Given the description of an element on the screen output the (x, y) to click on. 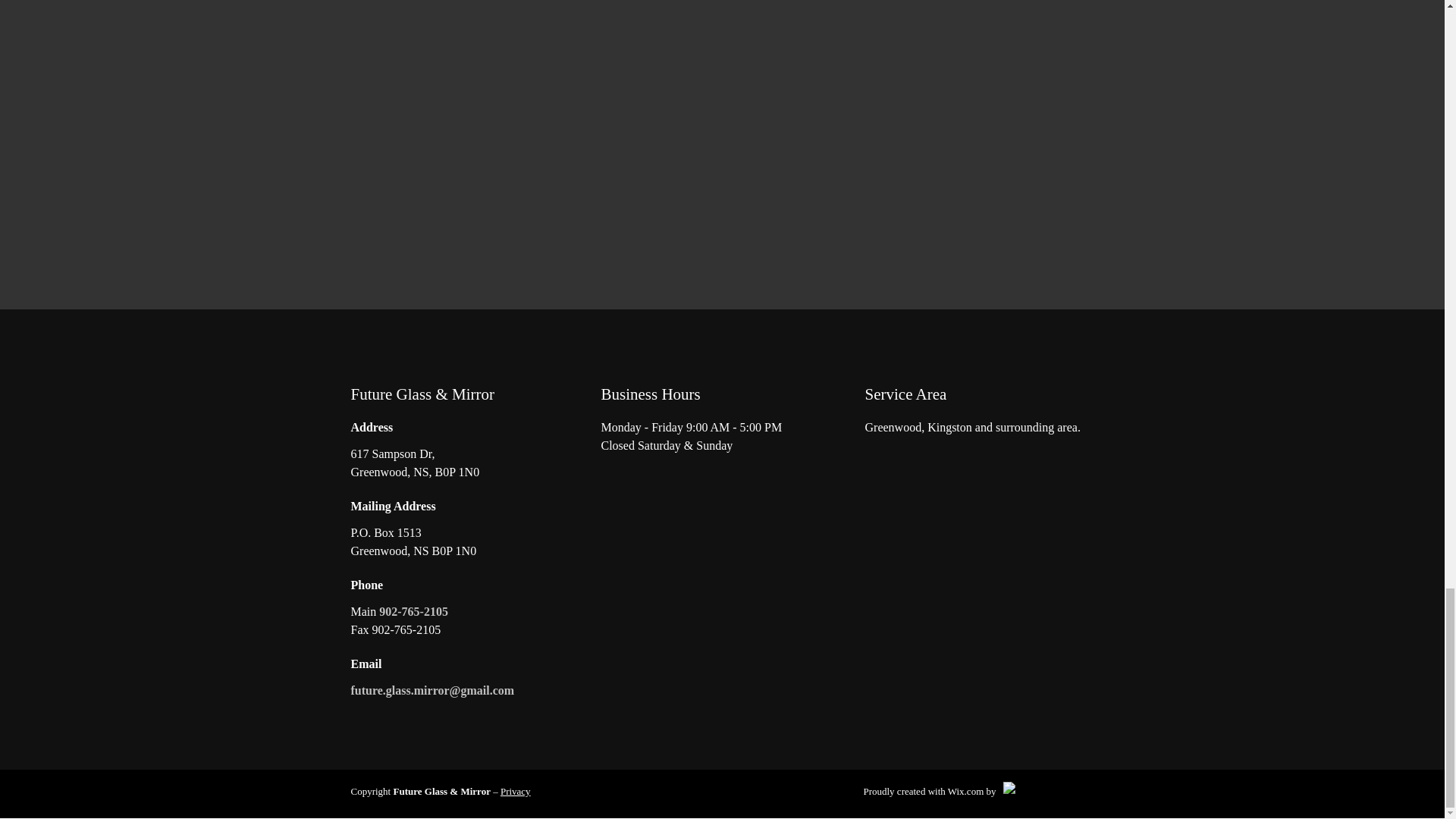
902-765-2105 (413, 611)
Privacy (515, 790)
